Given the description of an element on the screen output the (x, y) to click on. 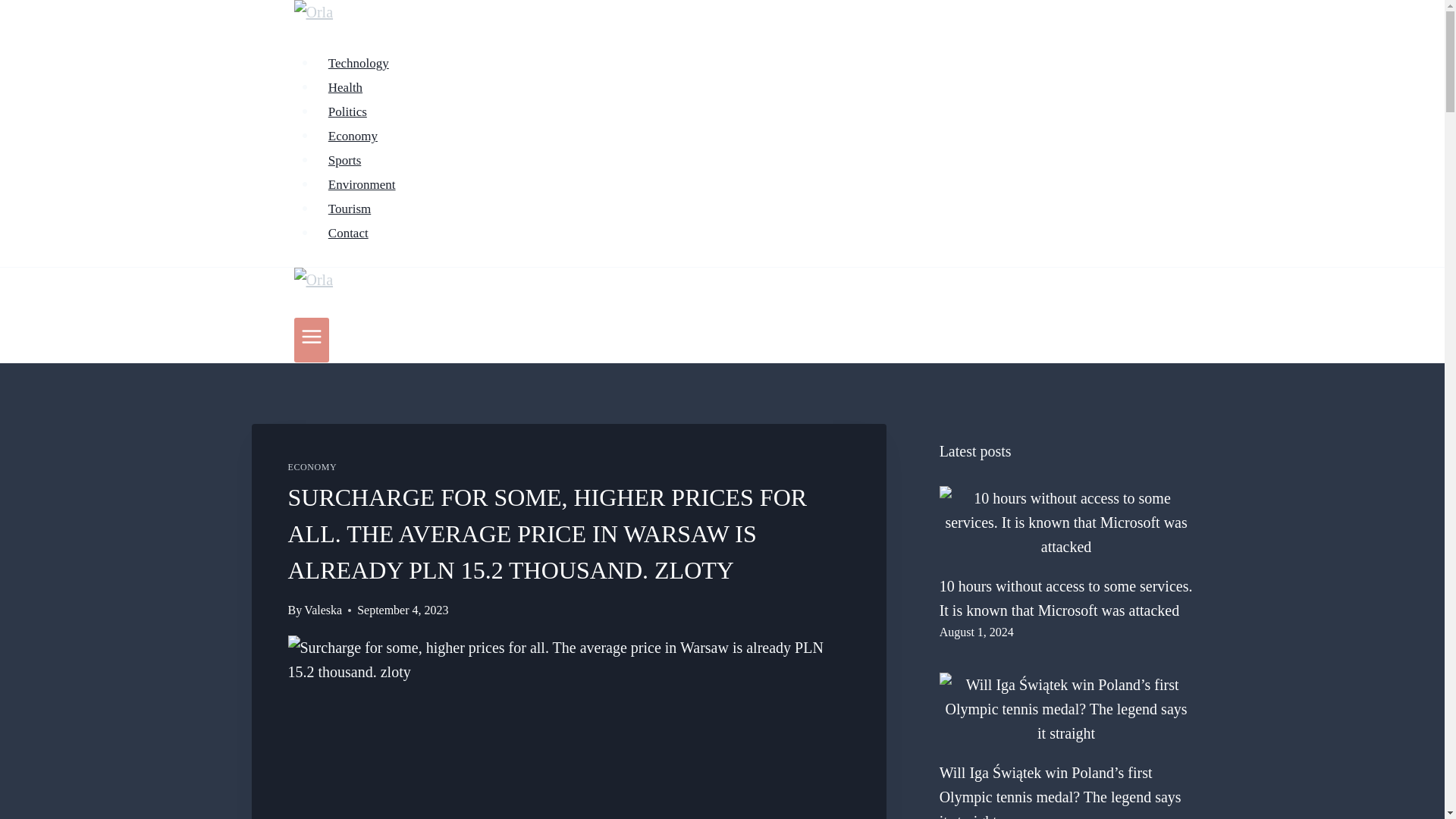
Economy (353, 135)
Politics (347, 111)
7:26 am (976, 631)
ECONOMY (312, 466)
Technology (359, 62)
Sports (344, 160)
Health (345, 87)
August 1, 2024 (976, 631)
Environment (362, 184)
